Given the description of an element on the screen output the (x, y) to click on. 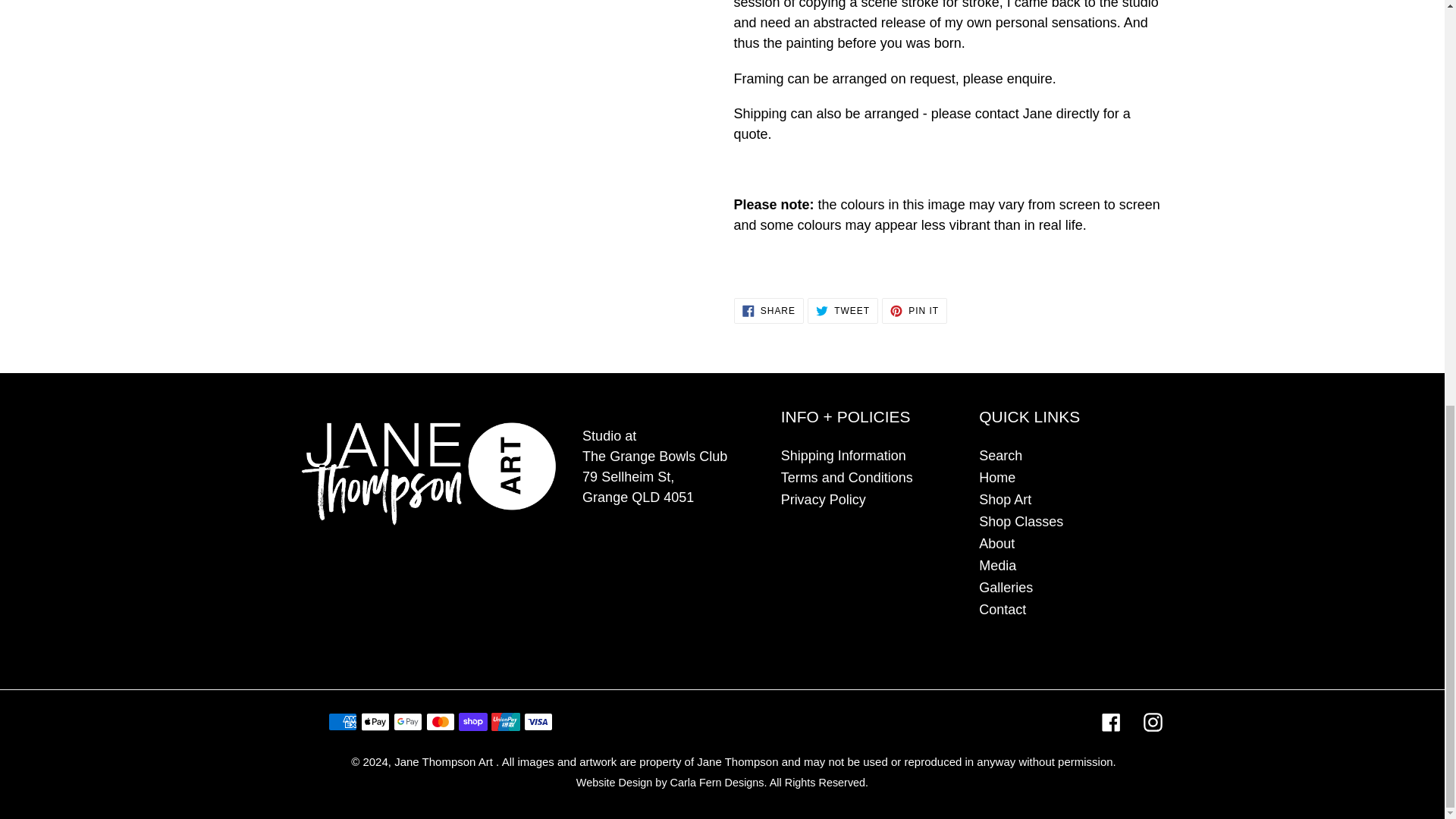
Search (1000, 455)
Terms and Conditions (914, 310)
Privacy Policy (768, 310)
Home (846, 477)
Shipping Information (823, 499)
